Given the description of an element on the screen output the (x, y) to click on. 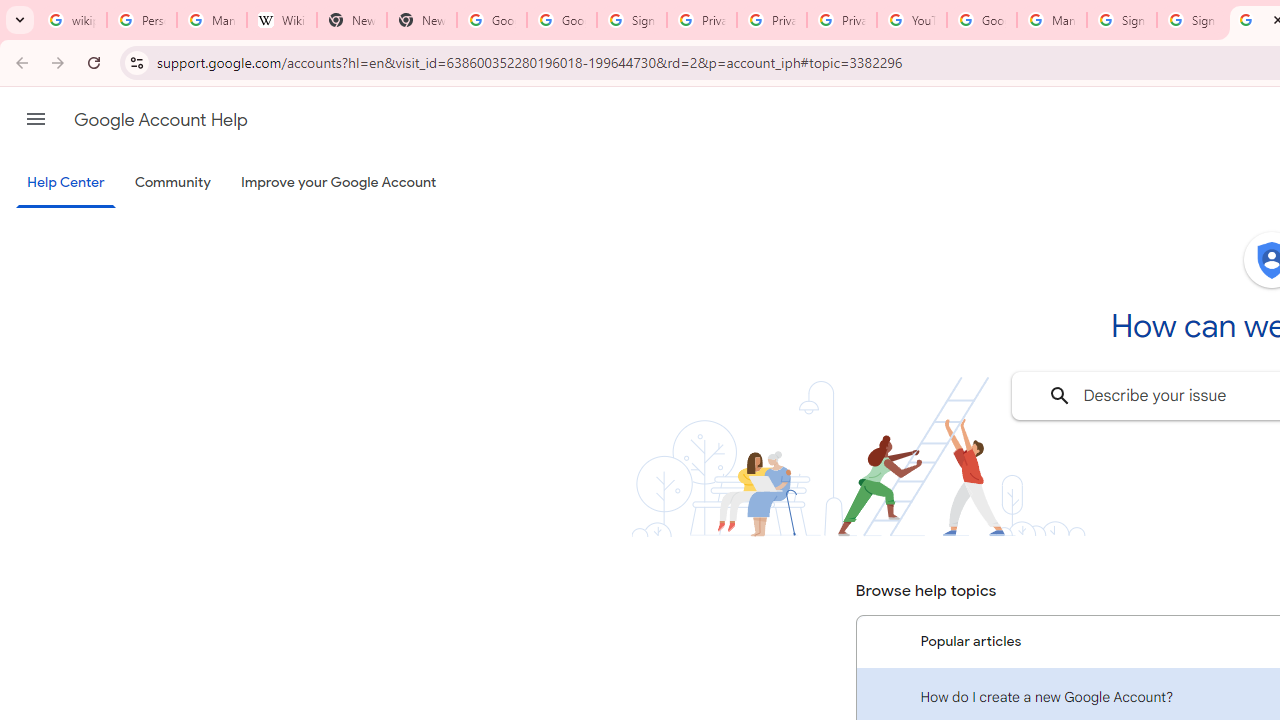
Help Center (65, 183)
Google Drive: Sign-in (561, 20)
Improve your Google Account (339, 183)
Sign in - Google Accounts (631, 20)
YouTube (911, 20)
Google Account Help (160, 119)
Sign in - Google Accounts (1121, 20)
New Tab (421, 20)
